Given the description of an element on the screen output the (x, y) to click on. 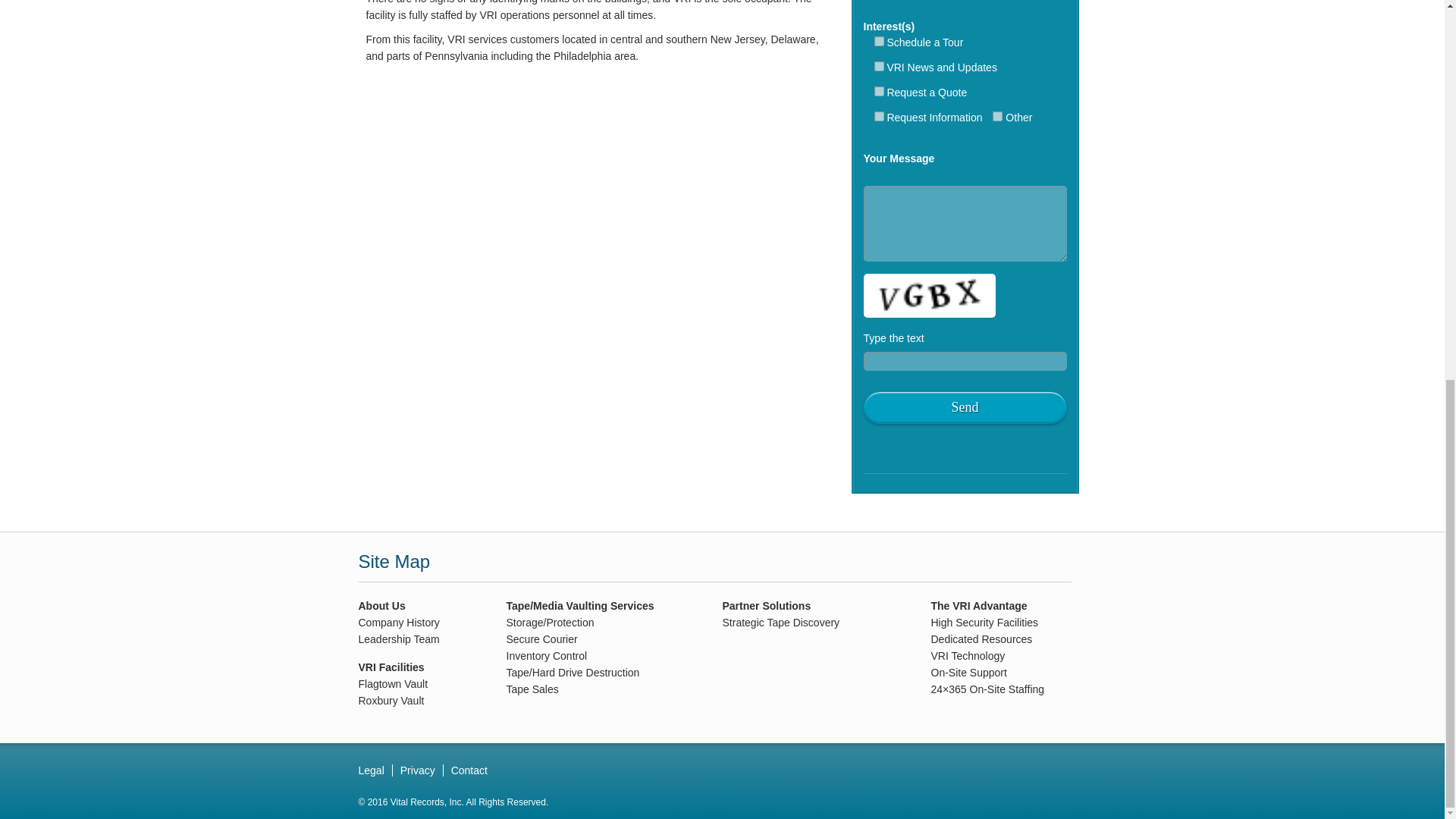
Roxbury Vault (390, 700)
Other (997, 116)
Leadership Team (398, 639)
Schedule a Tour (878, 40)
Request a Quote (878, 91)
Send (964, 407)
VRI News and Updates (878, 66)
VRI Facilities (390, 666)
About Us (381, 605)
Request Information (878, 116)
Company History (398, 622)
Send (964, 407)
Flagtown Vault (393, 684)
